Given the description of an element on the screen output the (x, y) to click on. 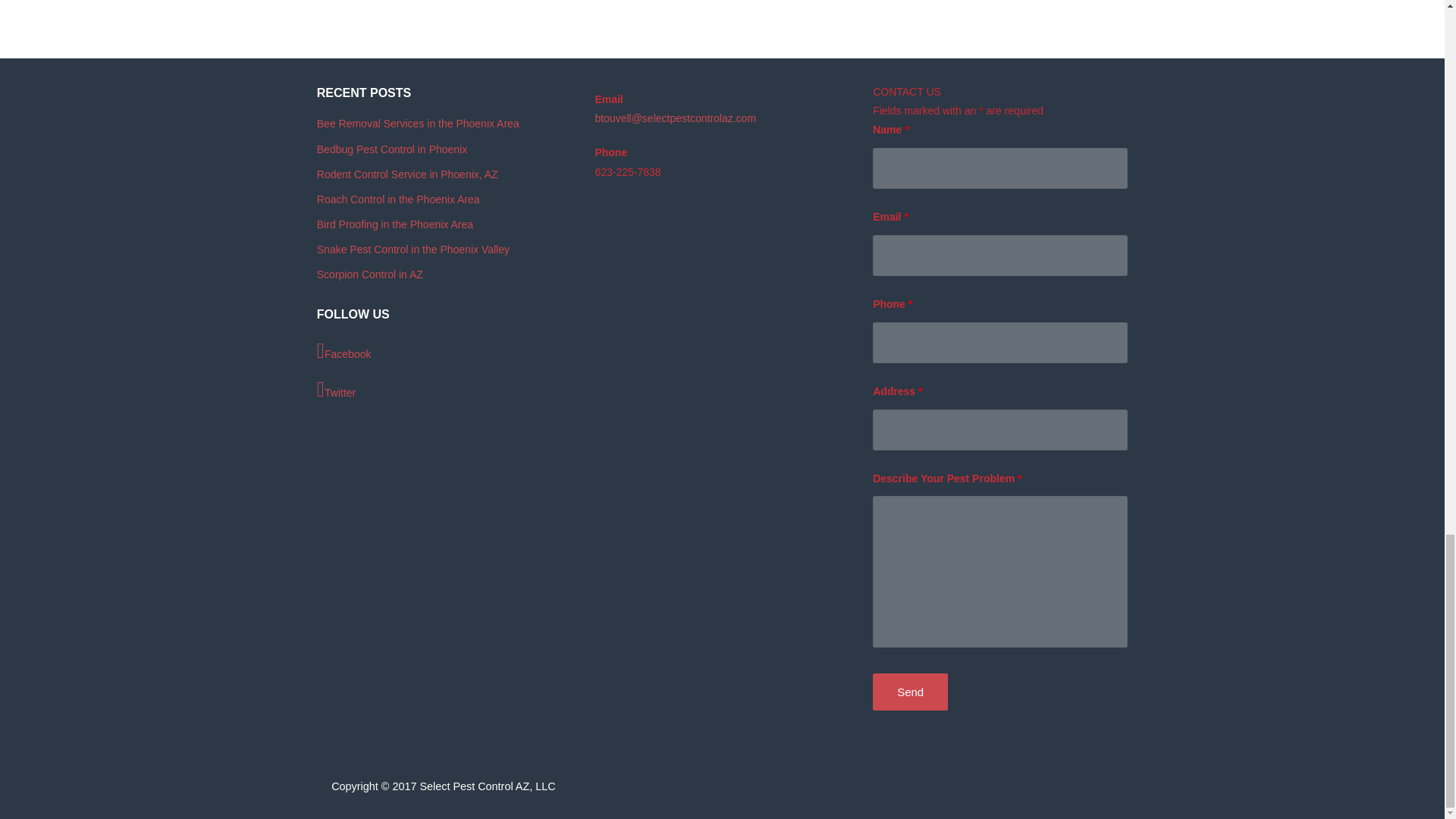
Facebook (444, 351)
Rodent Control Service in Phoenix, AZ (407, 174)
Scorpion Control in AZ (370, 274)
Send (909, 691)
Snake Pest Control in the Phoenix Valley (413, 249)
Roach Control in the Phoenix Area (398, 199)
Bird Proofing in the Phoenix Area (395, 224)
Bee Removal Services in the Phoenix Area (418, 123)
Twitter (444, 390)
Send (909, 691)
Bedbug Pest Control in Phoenix (392, 149)
